Given the description of an element on the screen output the (x, y) to click on. 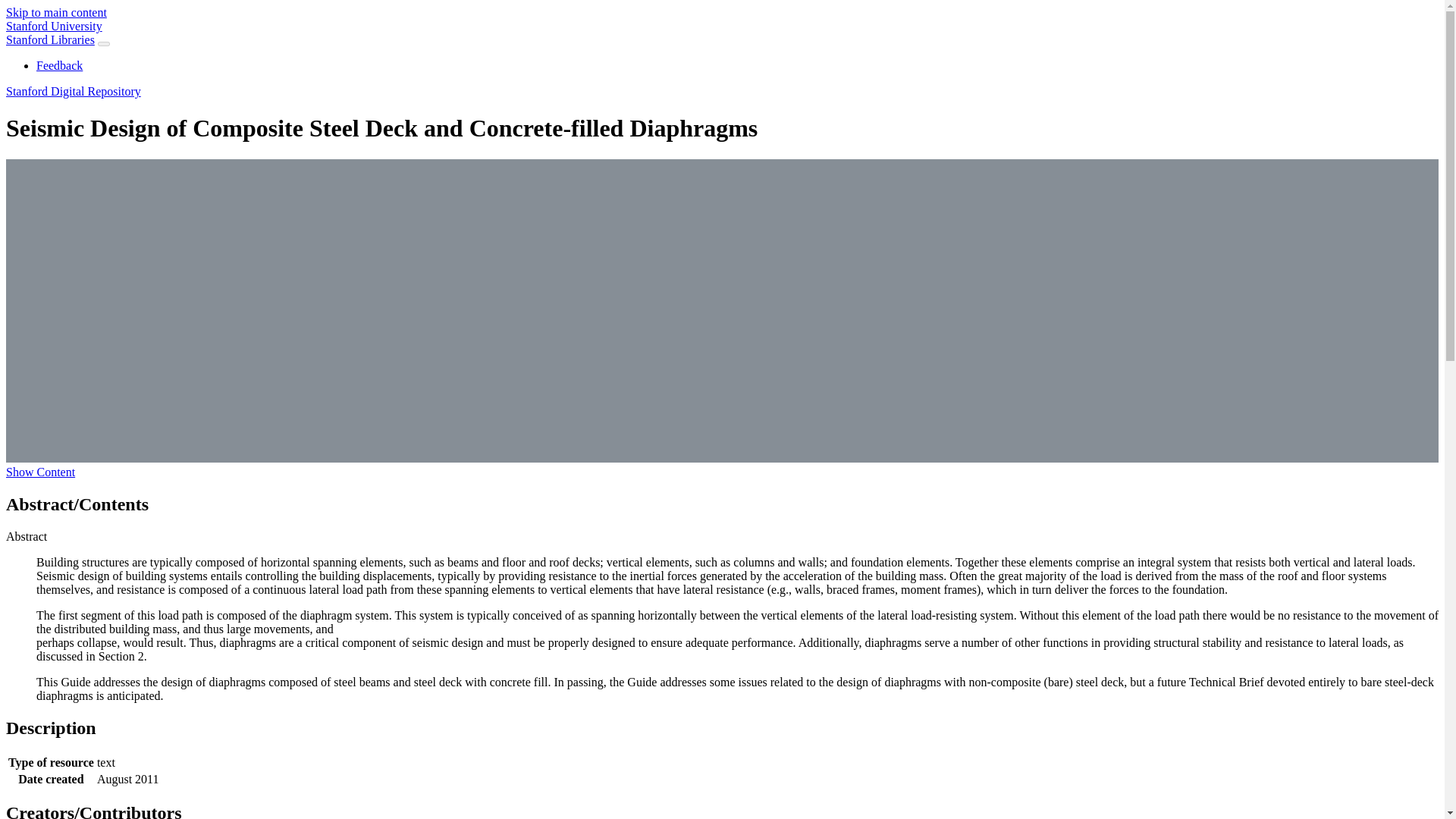
Stanford Digital Repository (73, 91)
Skip to main content (55, 11)
Feedback (59, 65)
Stanford University (53, 25)
Show Content (40, 472)
Stanford Libraries (49, 39)
